Given the description of an element on the screen output the (x, y) to click on. 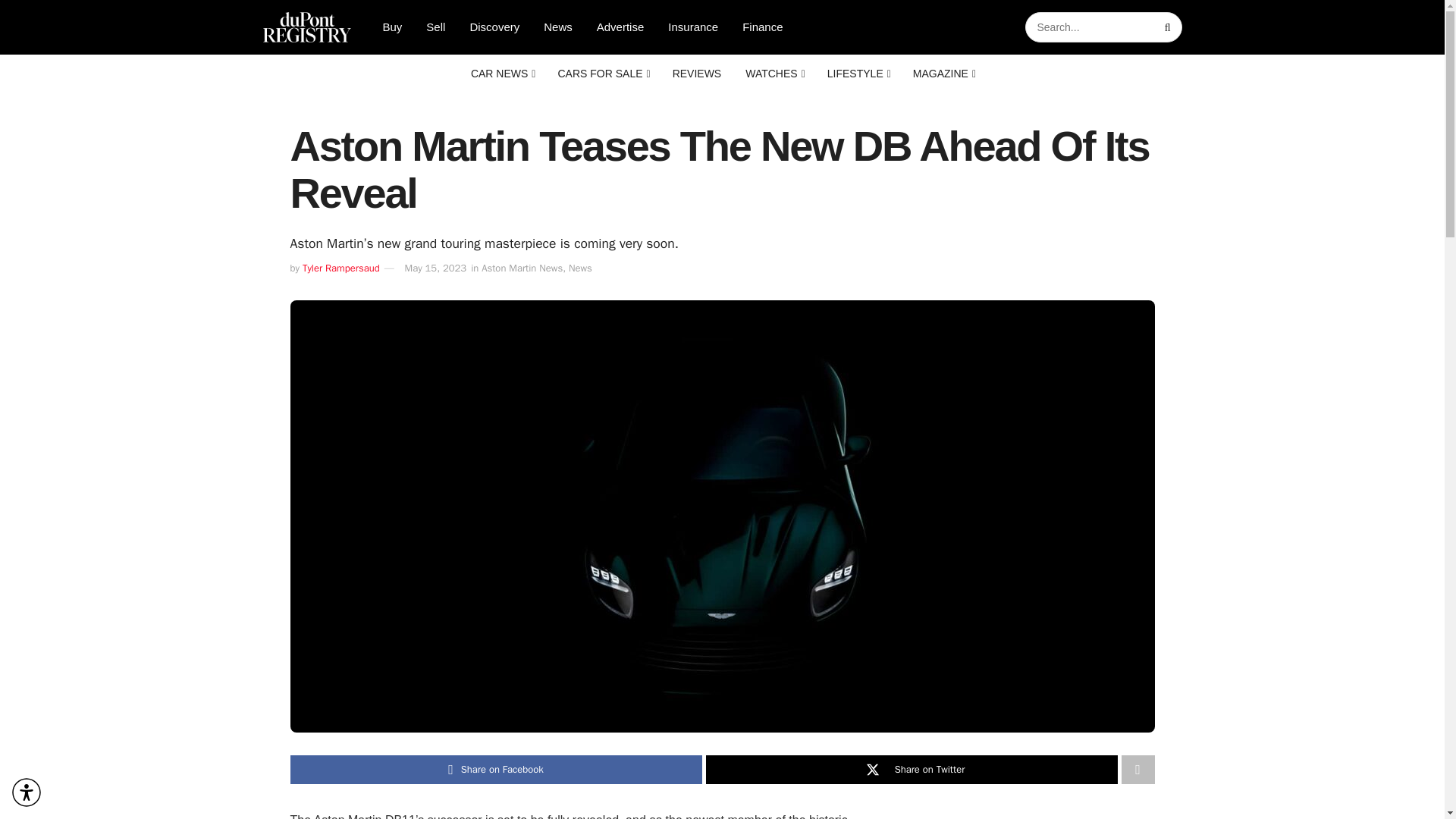
Finance (762, 27)
Accessibility Menu (26, 792)
Discovery (494, 27)
CARS FOR SALE (601, 73)
Buy (391, 27)
News (558, 27)
Sell (435, 27)
Insurance (693, 27)
Advertise (620, 27)
CAR NEWS (502, 73)
